Given the description of an element on the screen output the (x, y) to click on. 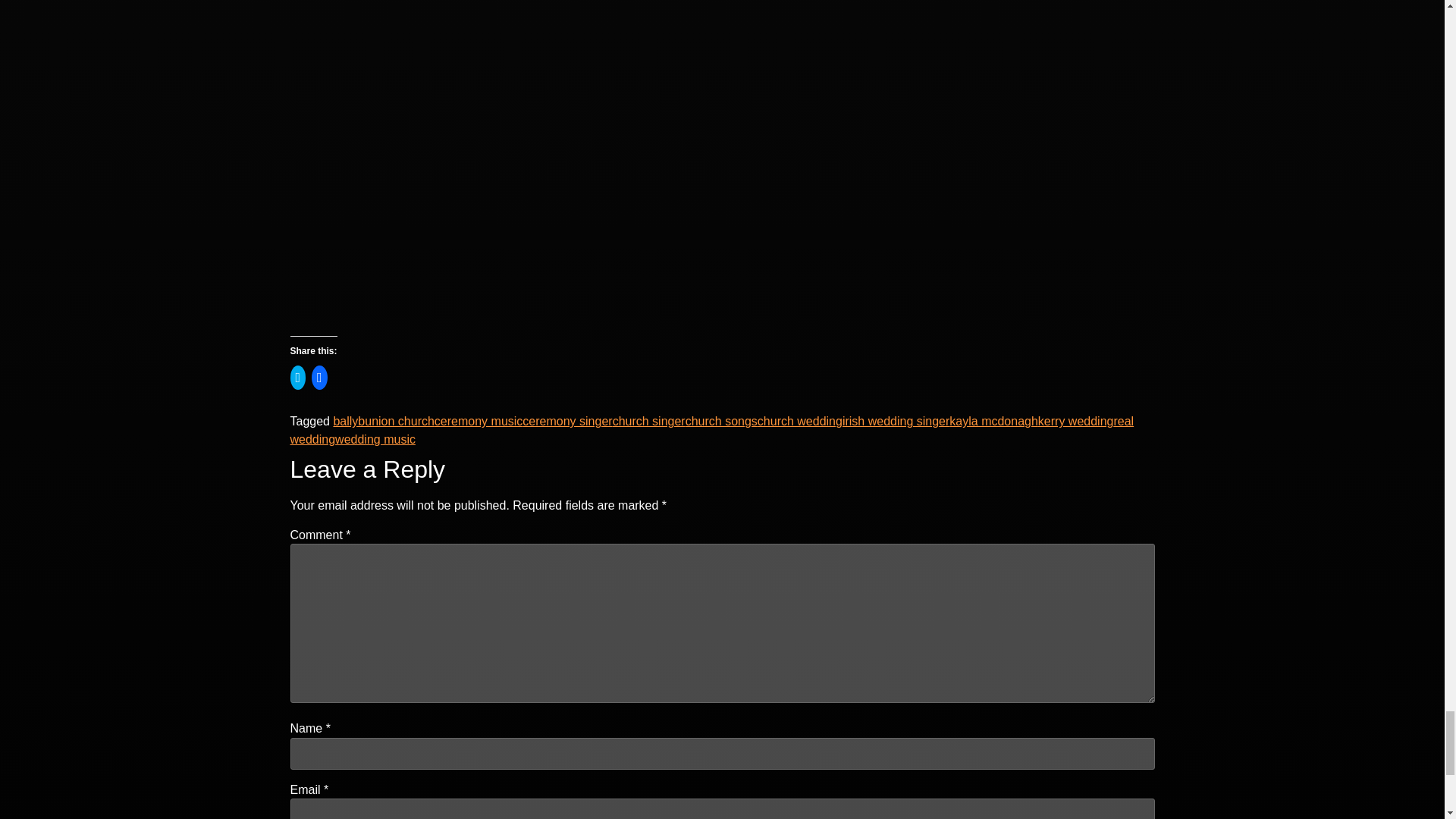
church singer (648, 420)
ballybunion church (383, 420)
ceremony music (477, 420)
ceremony singer (566, 420)
